Given the description of an element on the screen output the (x, y) to click on. 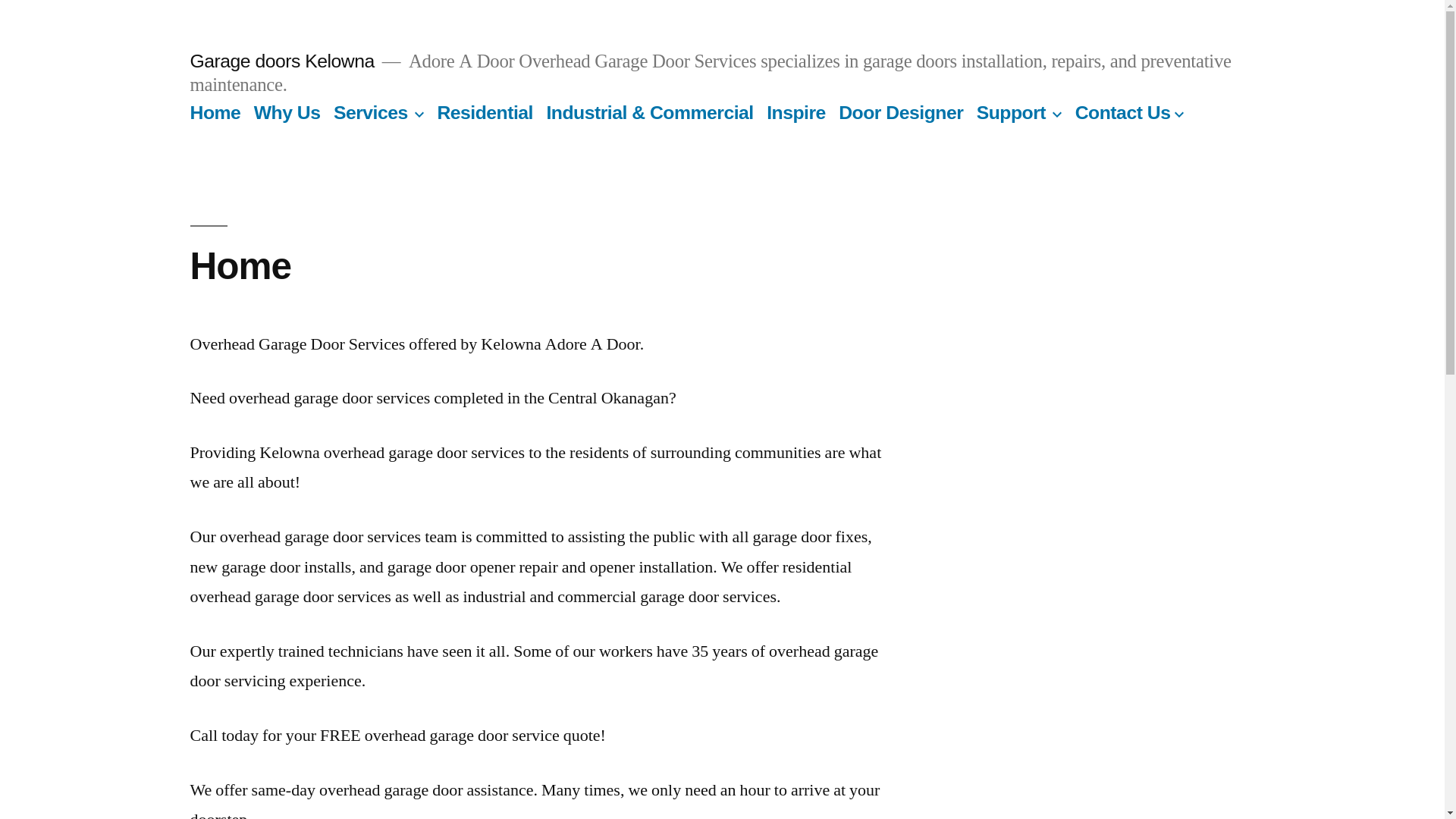
Services Element type: text (370, 112)
Inspire Element type: text (795, 112)
Industrial & Commercial Element type: text (649, 112)
Support Element type: text (1010, 112)
Contact Us Element type: text (1122, 112)
Door Designer Element type: text (900, 112)
Garage doors Kelowna Element type: text (281, 60)
Residential Element type: text (484, 112)
Home Element type: text (214, 112)
Why Us Element type: text (287, 112)
